Given the description of an element on the screen output the (x, y) to click on. 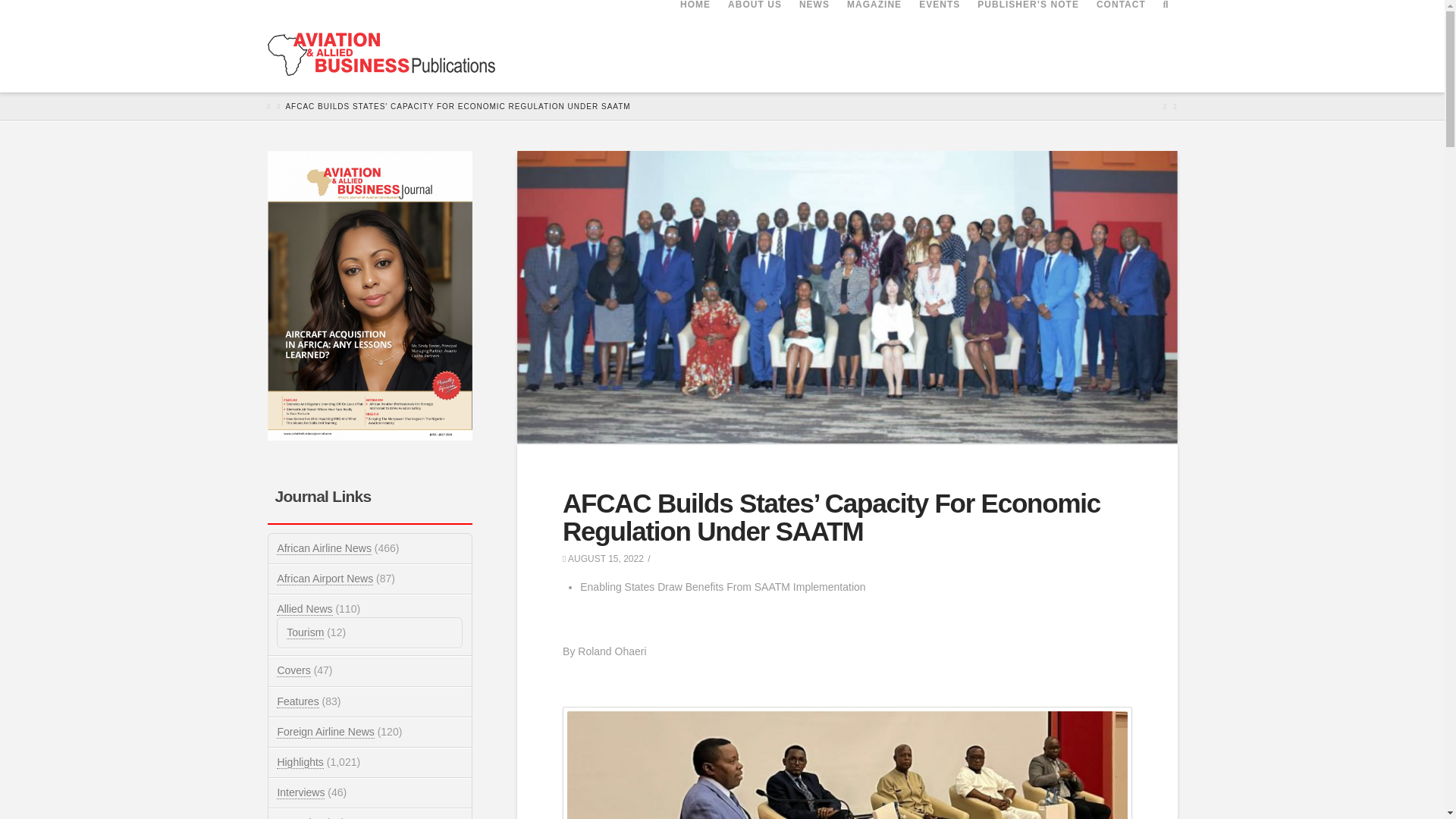
CONTACT (1120, 33)
MAGAZINE (874, 33)
African Airline News (323, 548)
HOME (695, 33)
EVENTS (939, 33)
You Are Here (457, 106)
ABOUT US (754, 33)
NEWS (814, 33)
